Given the description of an element on the screen output the (x, y) to click on. 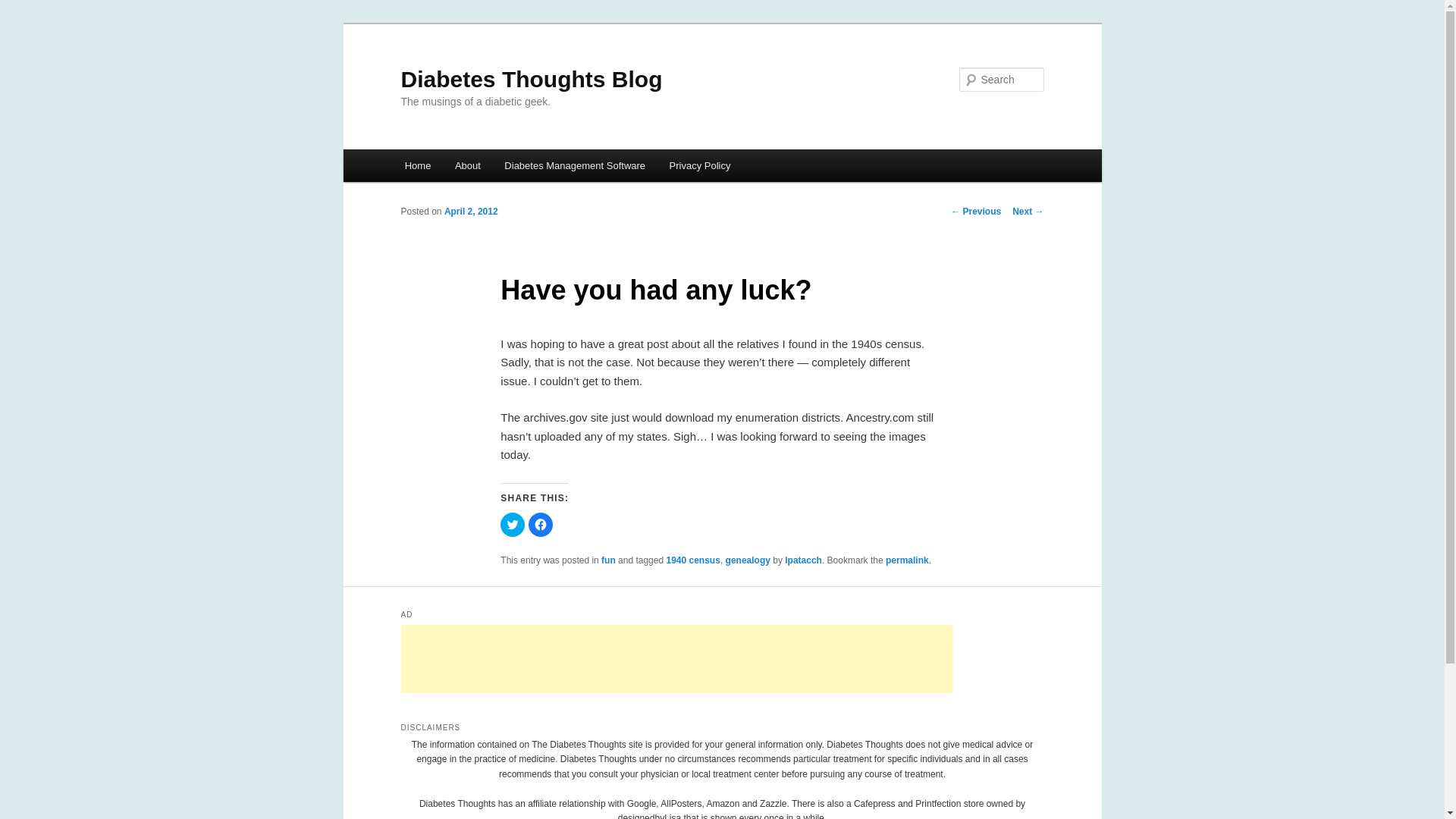
Search (24, 8)
lpatacch (803, 560)
fun (608, 560)
Advertisement (676, 658)
Home (417, 165)
About (467, 165)
Permalink to Have you had any luck? (906, 560)
genealogy (747, 560)
Diabetes Management Software (575, 165)
Privacy Policy (700, 165)
1940 census (692, 560)
Click to share on Twitter (512, 524)
10:09 pm (470, 211)
Diabetes Thoughts Blog (531, 78)
